Given the description of an element on the screen output the (x, y) to click on. 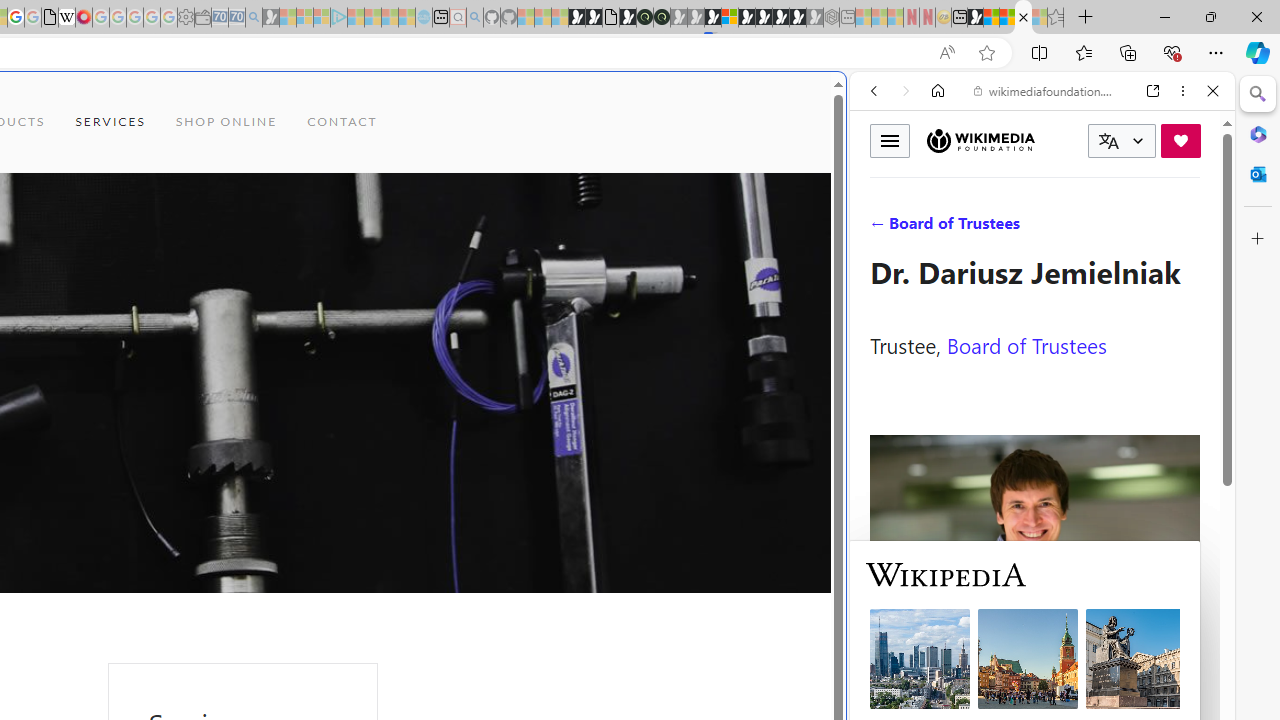
Wiktionary (1034, 669)
Search Filter, VIDEOS (1006, 228)
Toggle menu (890, 140)
Donate now (1180, 140)
Search Filter, IMAGES (939, 228)
CONTACT (341, 122)
